Given the description of an element on the screen output the (x, y) to click on. 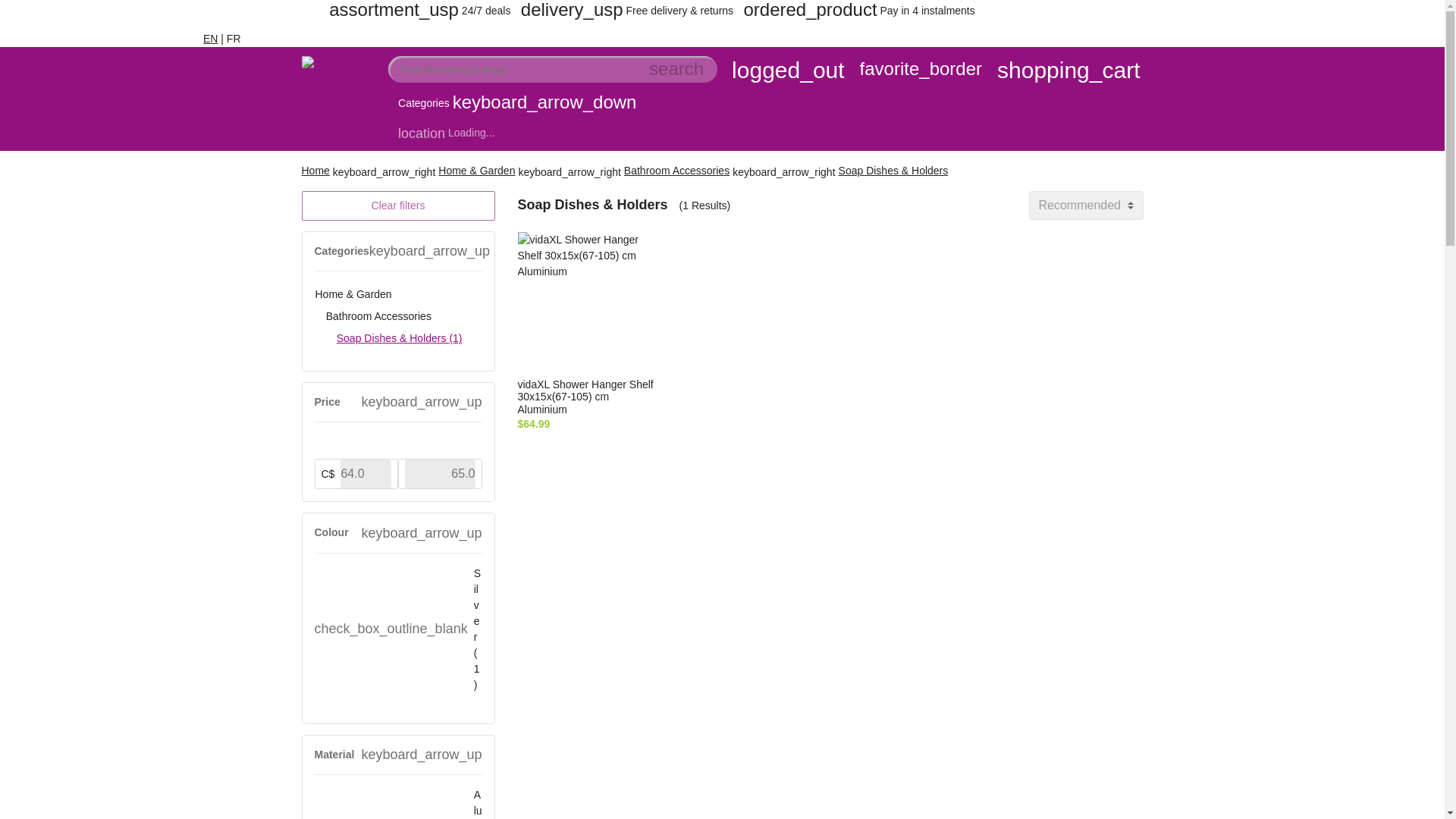
64.0 (365, 473)
FR (234, 38)
65.0 (440, 473)
search (676, 69)
location Loading... (444, 132)
vidaXL Home (338, 102)
Cart 0 Items (1068, 71)
